Given the description of an element on the screen output the (x, y) to click on. 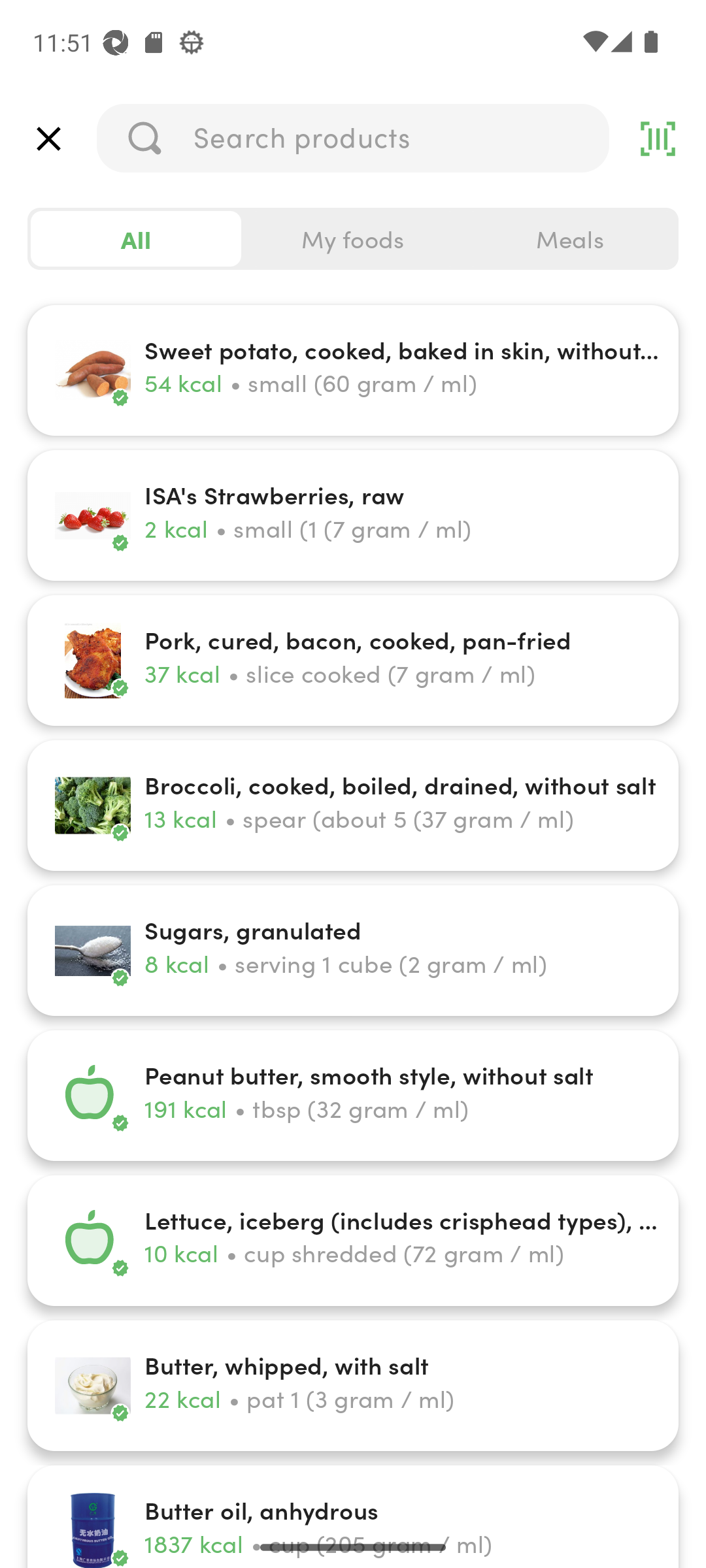
top_left_action (48, 138)
top_right_action (658, 138)
My foods (352, 238)
Meals (569, 238)
